Given the description of an element on the screen output the (x, y) to click on. 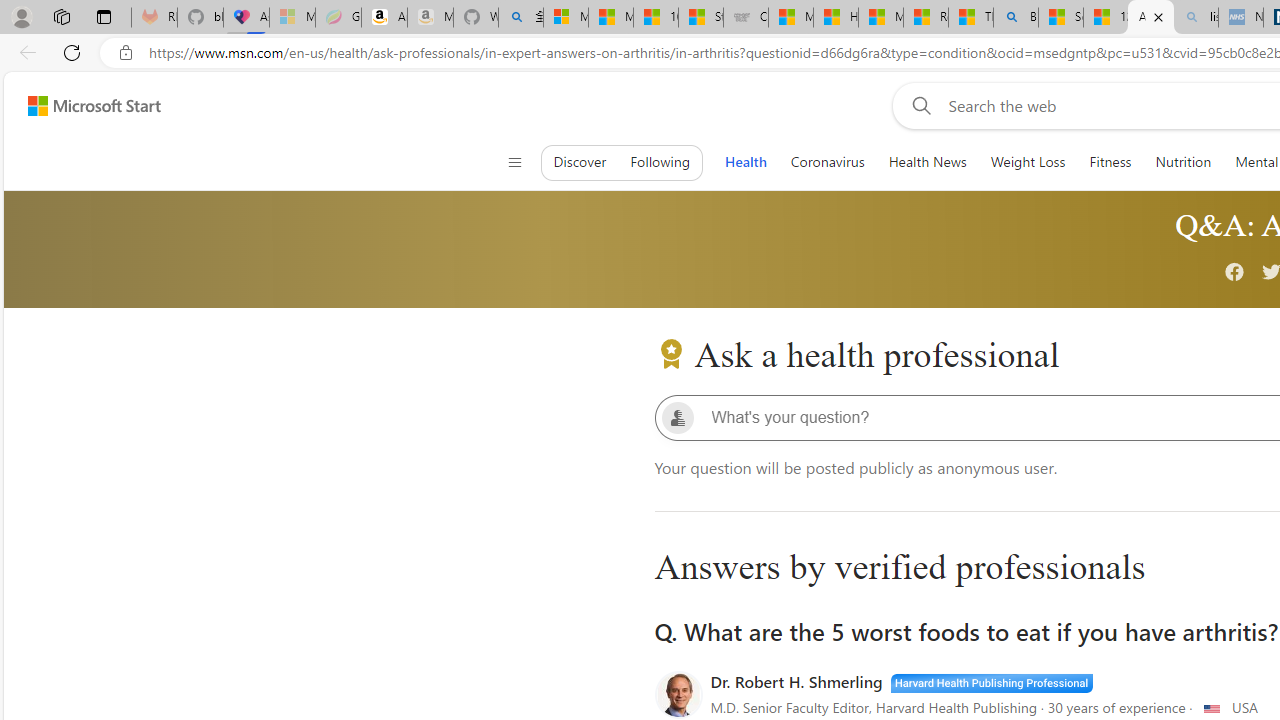
Harvard health publishing professional (991, 681)
How I Got Rid of Microsoft Edge's Unnecessary Features (835, 17)
Health (745, 161)
12 Popular Science Lies that Must be Corrected (1105, 17)
doctorIconRound (678, 695)
Health News (927, 162)
Health (745, 162)
Facebook (1235, 273)
